Given the description of an element on the screen output the (x, y) to click on. 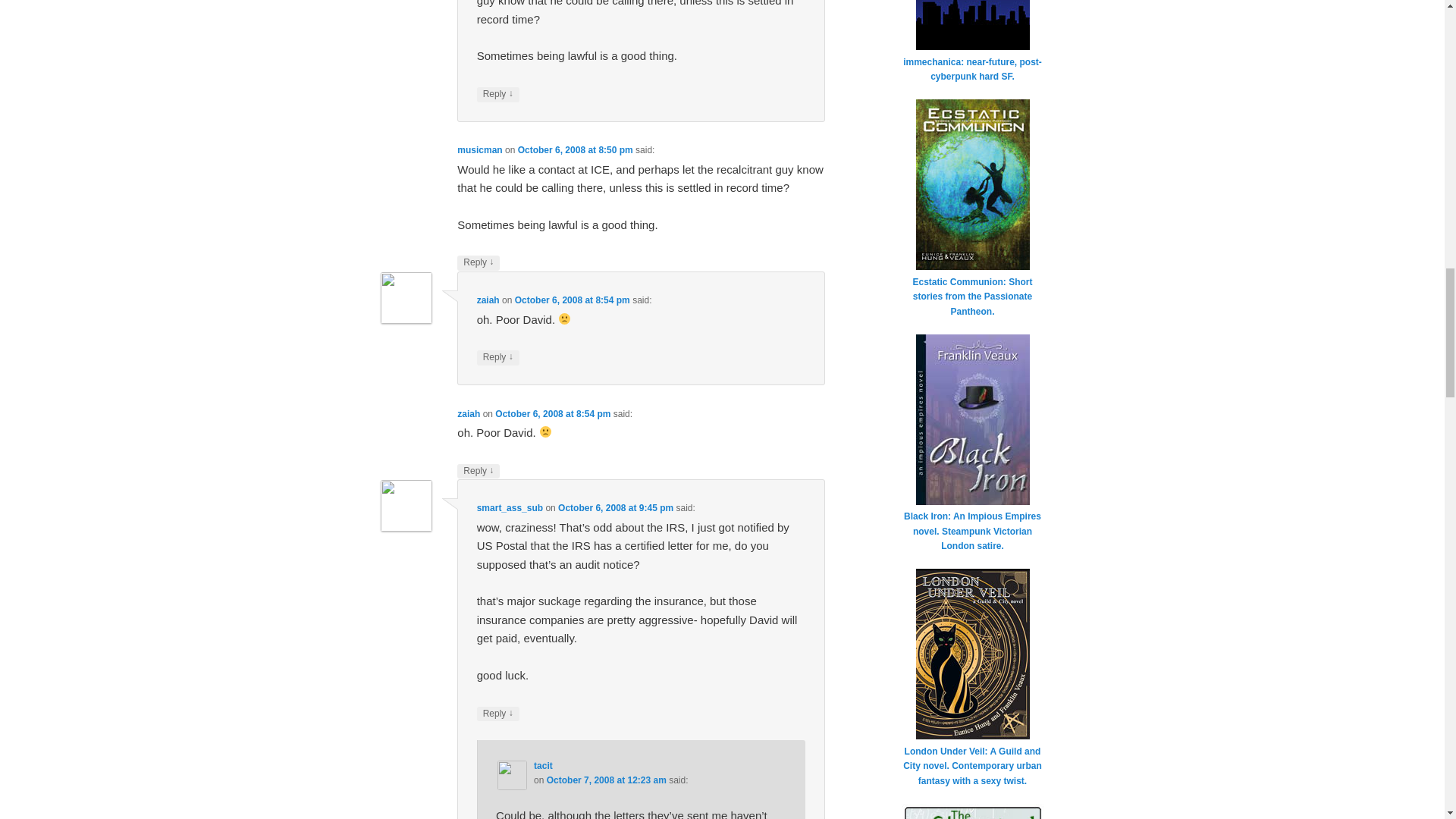
October 6, 2008 at 8:50 pm (575, 149)
zaiah (488, 299)
October 6, 2008 at 9:45 pm (614, 507)
October 7, 2008 at 12:23 am (606, 779)
musicman (479, 149)
tacit (543, 765)
October 6, 2008 at 8:54 pm (552, 412)
zaiah (468, 412)
The Skeptical Pervert Podcast (972, 811)
October 6, 2008 at 8:54 pm (572, 299)
